Given the description of an element on the screen output the (x, y) to click on. 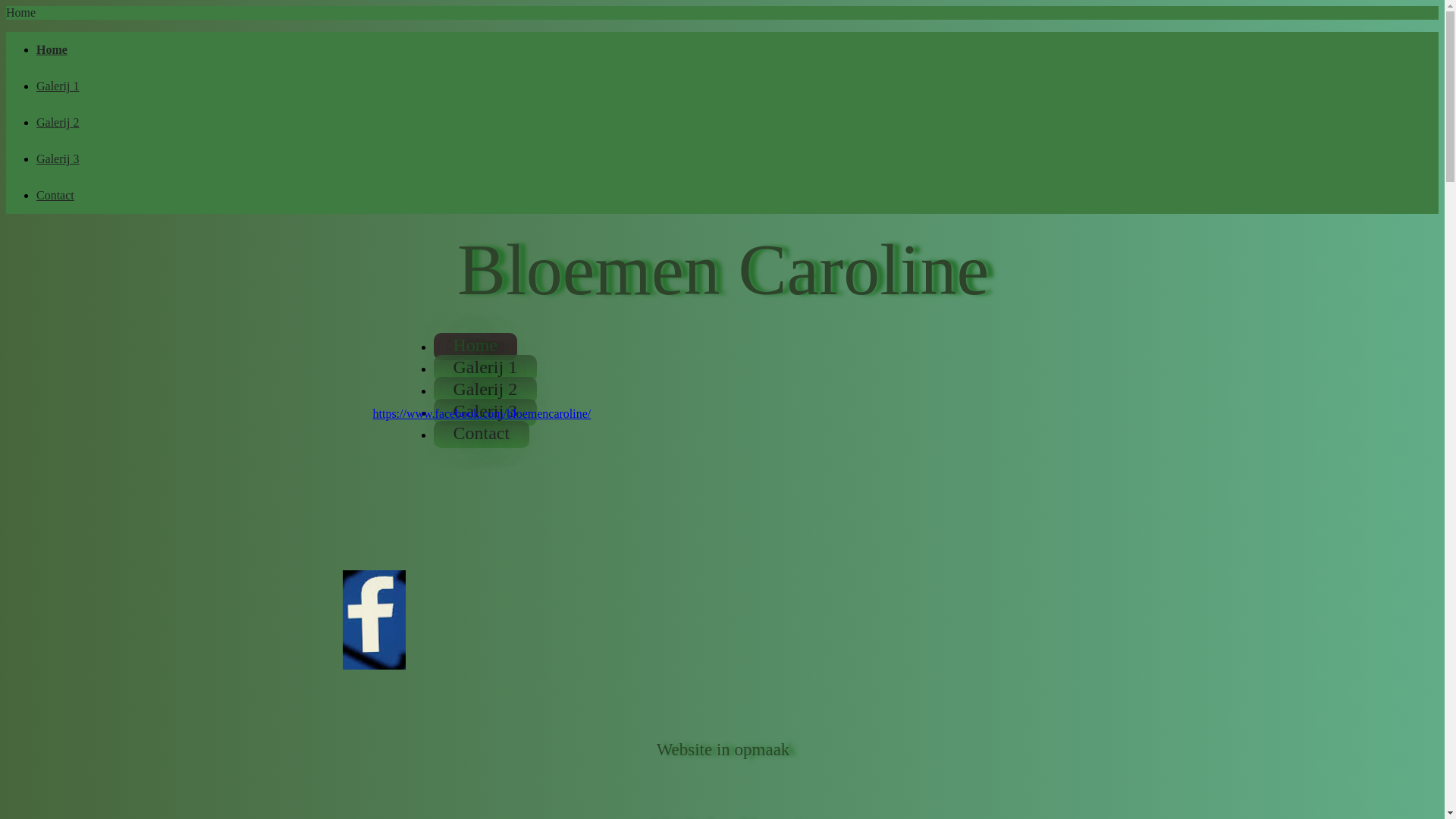
Galerij 2 Element type: text (57, 122)
Galerij 3 Element type: text (485, 412)
Galerij 2 Element type: text (485, 390)
Contact Element type: text (481, 434)
Galerij 3 Element type: text (57, 158)
Home Element type: text (51, 49)
Home Element type: text (475, 346)
Galerij 1 Element type: text (485, 368)
https://www.facebook.com/bloemencaroline/ Element type: text (482, 413)
Contact Element type: text (55, 194)
Galerij 1 Element type: text (57, 85)
